Given the description of an element on the screen output the (x, y) to click on. 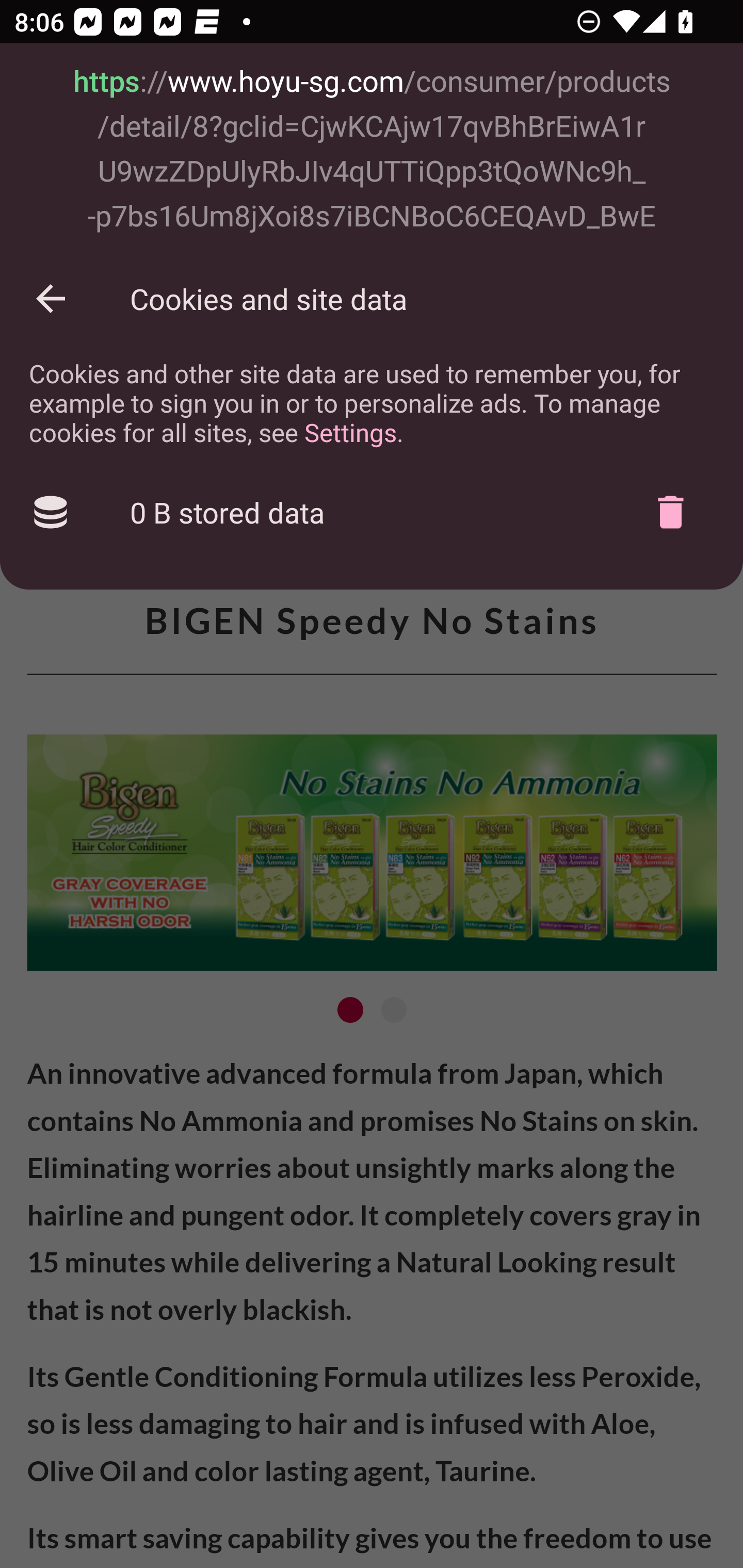
Back (50, 298)
0 B stored data Delete cookies? (371, 512)
